Given the description of an element on the screen output the (x, y) to click on. 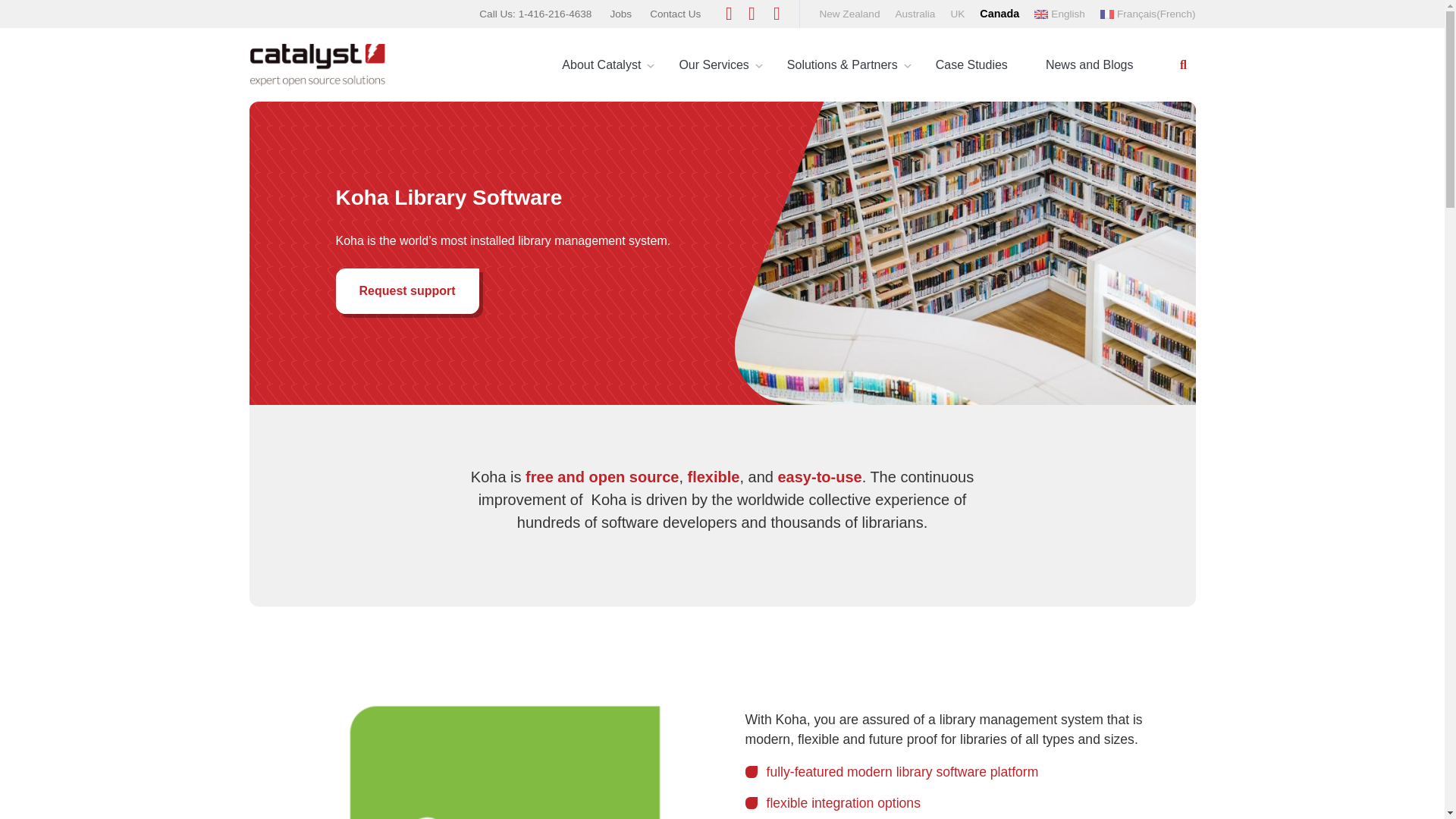
About Catalyst (601, 64)
Jobs (619, 13)
Call Us: 1-416-216-4638 (534, 13)
Youtube (776, 11)
Jobs (619, 13)
New Zealand (848, 13)
UK (957, 13)
Australia (914, 13)
French (1148, 13)
Twitter (728, 11)
LinkedIn (750, 11)
UK (957, 13)
Contact Us (675, 13)
Australia (914, 13)
New Zealand (848, 13)
